Given the description of an element on the screen output the (x, y) to click on. 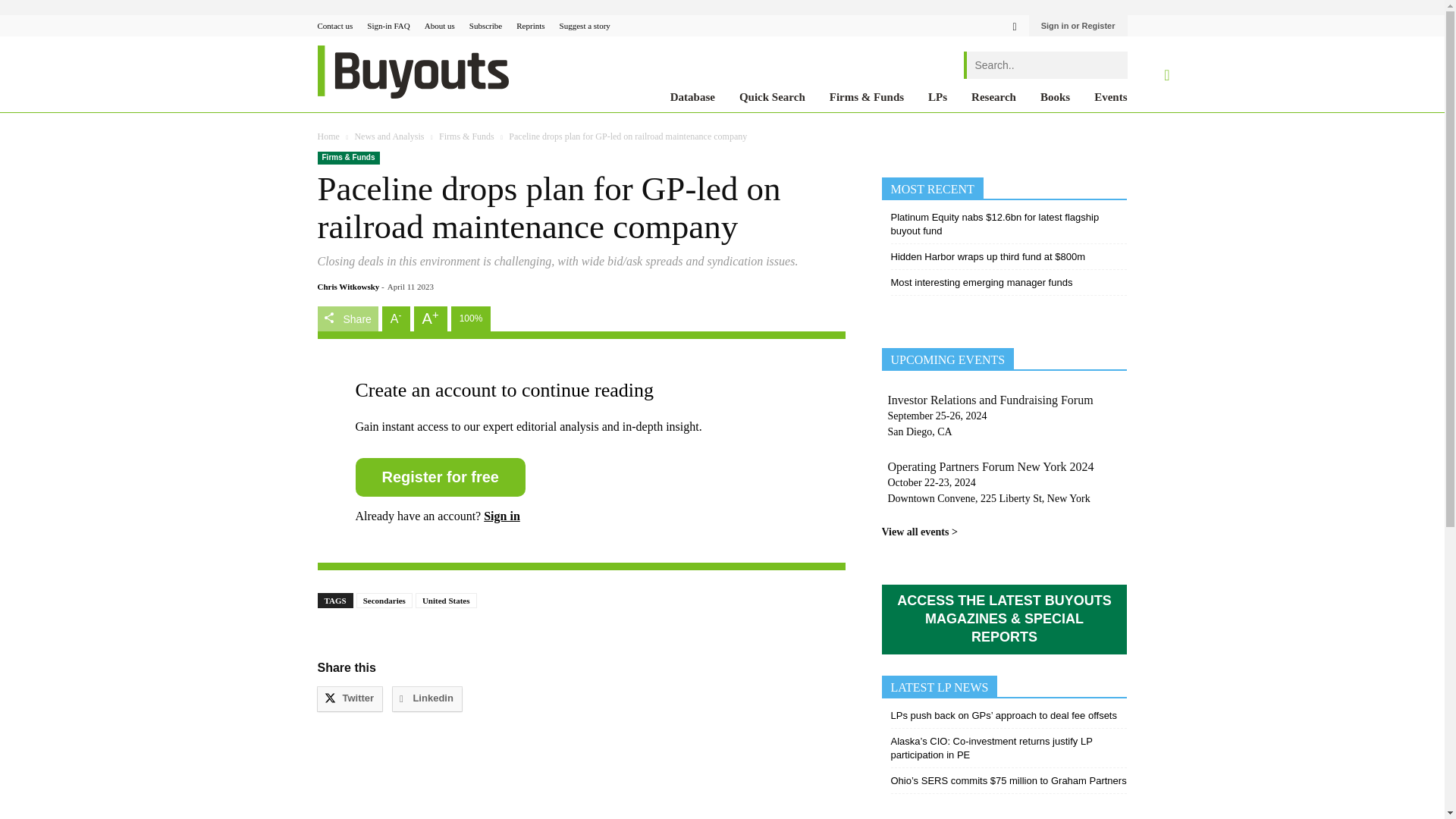
View all posts in News and Analysis (388, 136)
